Given the description of an element on the screen output the (x, y) to click on. 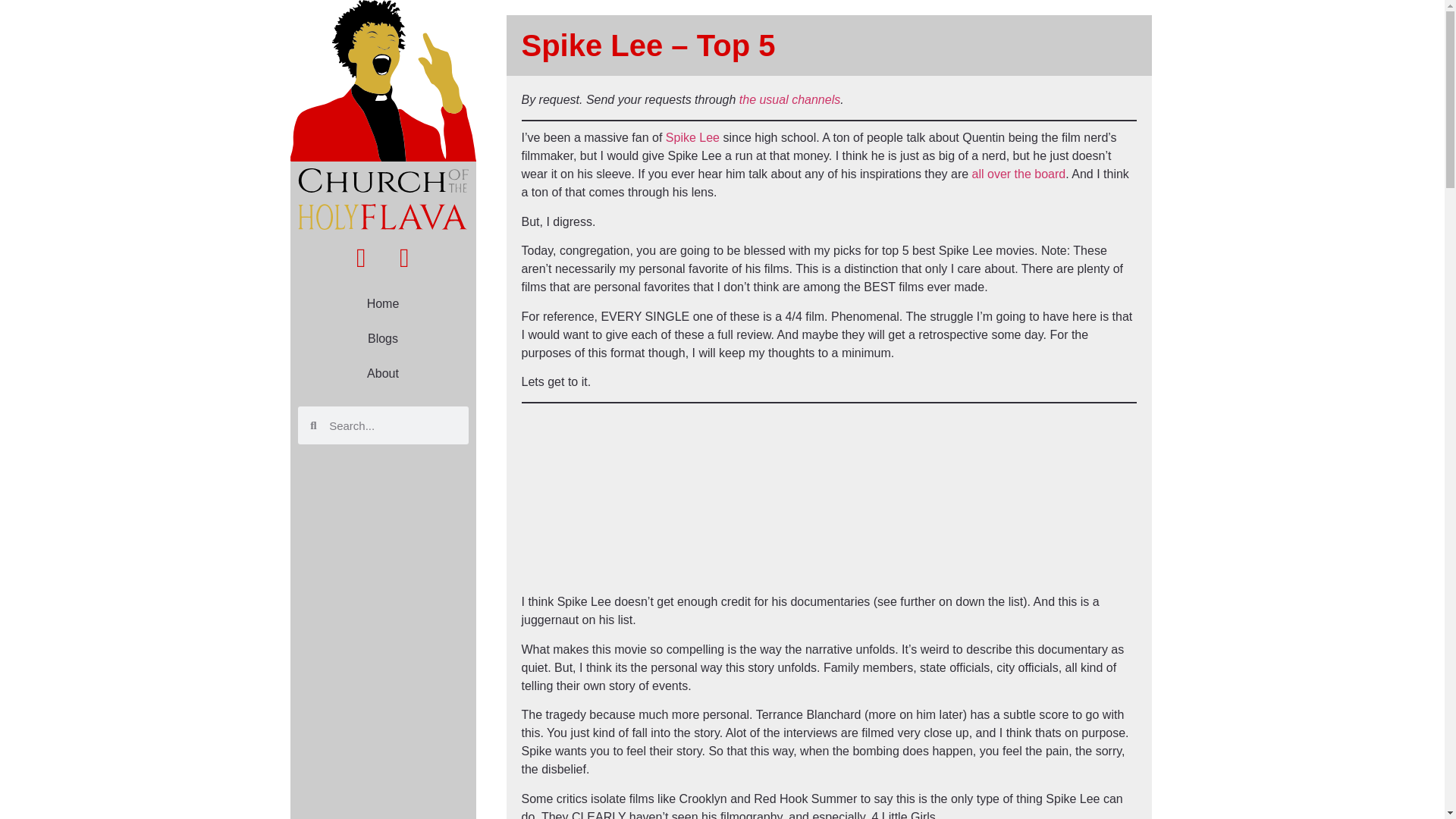
About (382, 373)
the usual channels (789, 99)
Home (382, 303)
Spike Lee (692, 137)
Blogs (382, 338)
all over the board (1018, 173)
